Given the description of an element on the screen output the (x, y) to click on. 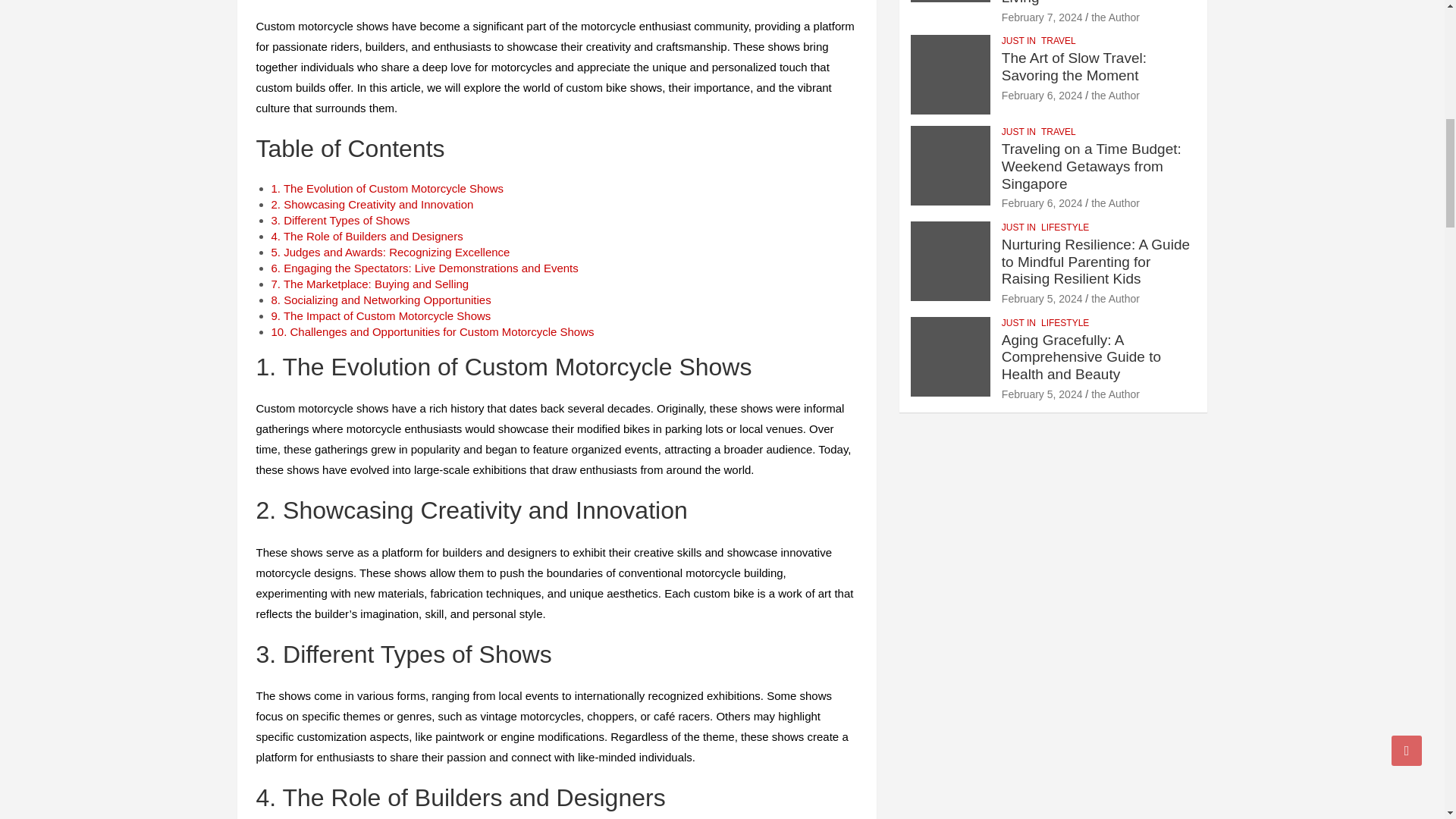
2. Showcasing Creativity and Innovation (372, 204)
9. The Impact of Custom Motorcycle Shows (381, 315)
7. The Marketplace: Buying and Selling (369, 283)
3. Different Types of Shows (340, 219)
5. Judges and Awards: Recognizing Excellence (390, 251)
6. Engaging the Spectators: Live Demonstrations and Events (424, 267)
4. The Role of Builders and Designers (366, 236)
8. Socializing and Networking Opportunities (381, 299)
The Art of Slow Travel: Savoring the Moment (1042, 95)
10. Challenges and Opportunities for Custom Motorcycle Shows (432, 331)
1. The Evolution of Custom Motorcycle Shows (386, 187)
Aging Gracefully: A Comprehensive Guide to Health and Beauty (1042, 394)
Traveling on a Time Budget: Weekend Getaways from Singapore (1042, 203)
